Given the description of an element on the screen output the (x, y) to click on. 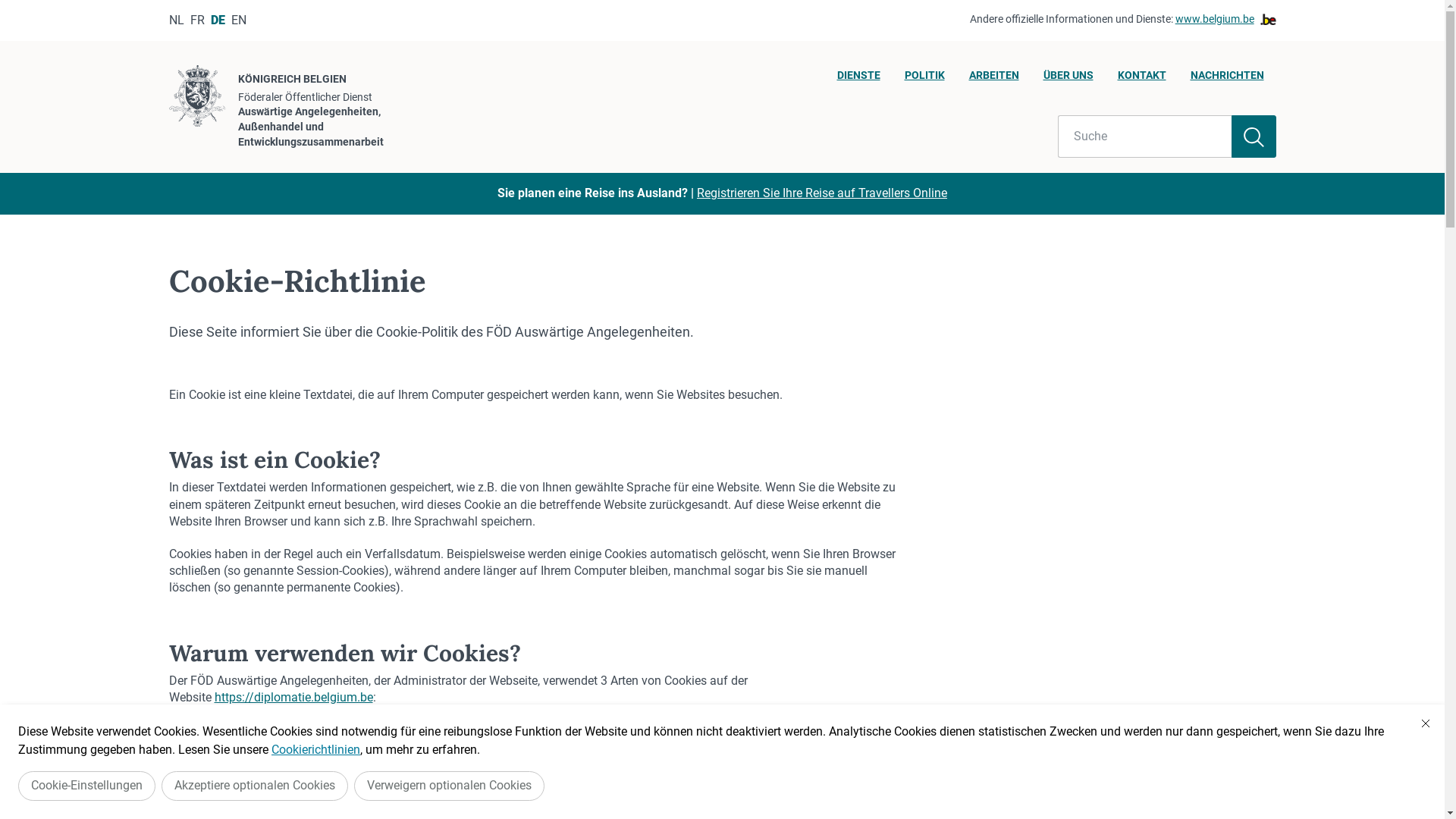
Verweigern optionalen Cookies Element type: text (449, 785)
Cookierichtlinien Element type: text (315, 749)
ARBEITEN Element type: text (994, 79)
DIENSTE Element type: text (858, 79)
Filter anwenden Element type: text (1253, 136)
FR Element type: text (196, 19)
Cookie-Einstellungen Element type: text (86, 785)
www.belgium.be Element type: text (1225, 19)
NL Element type: text (175, 19)
Akzeptiere optionalen Cookies Element type: text (254, 785)
EN Element type: text (237, 19)
Suche Element type: hover (1144, 136)
DE Element type: text (217, 19)
Registrieren Sie Ihre Reise auf Travellers Online Element type: text (821, 192)
Skip to main content Element type: text (7, 4)
KONTAKT Element type: text (1141, 79)
NACHRICHTEN Element type: text (1227, 79)
https://diplomatie.belgium.be Element type: text (292, 697)
POLITIK Element type: text (923, 79)
